Given the description of an element on the screen output the (x, y) to click on. 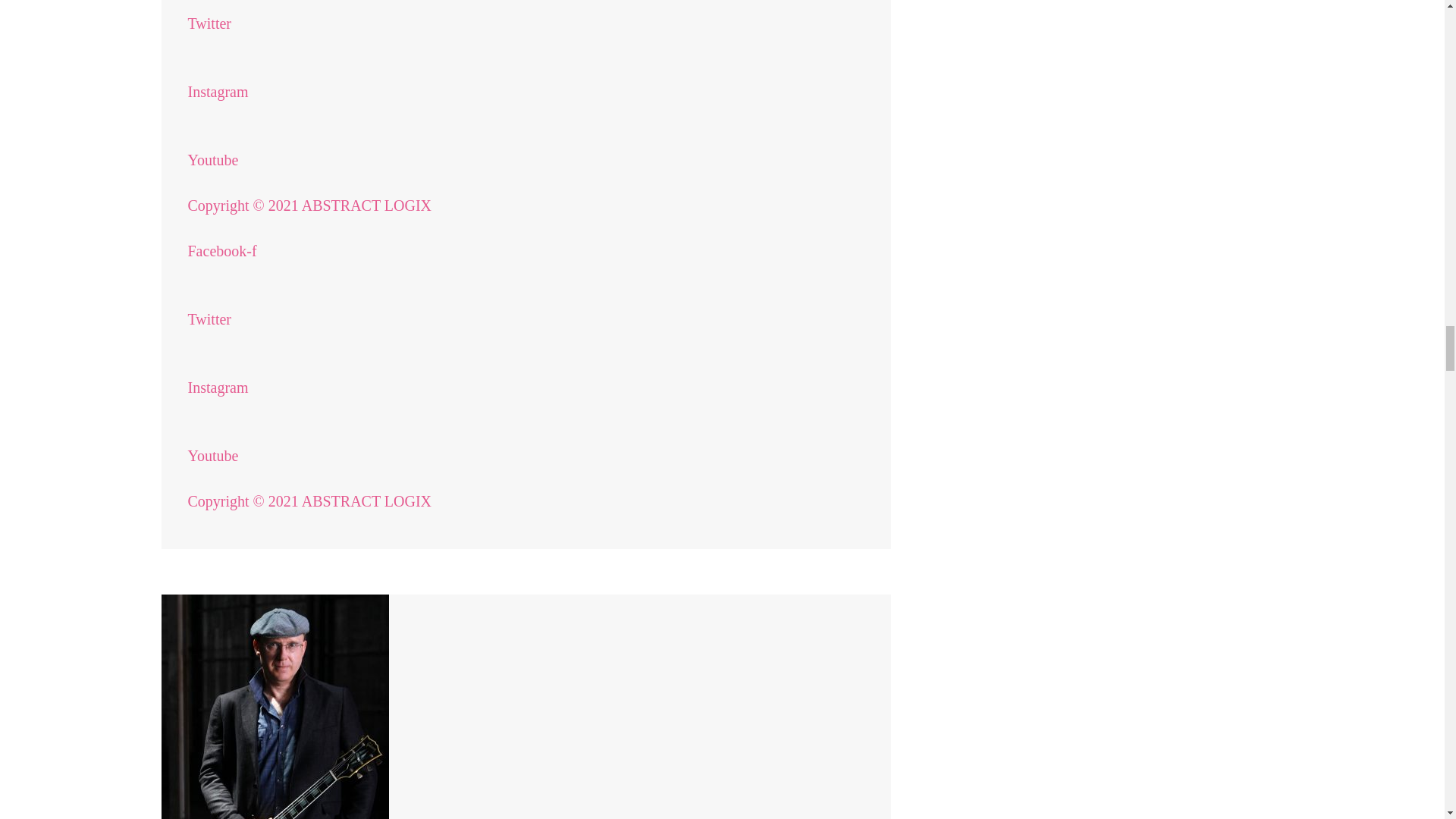
Youtube (212, 170)
Instagram (217, 102)
Twitter (209, 34)
Youtube (212, 466)
Instagram (217, 398)
Facebook-f (222, 261)
Twitter (209, 330)
